Given the description of an element on the screen output the (x, y) to click on. 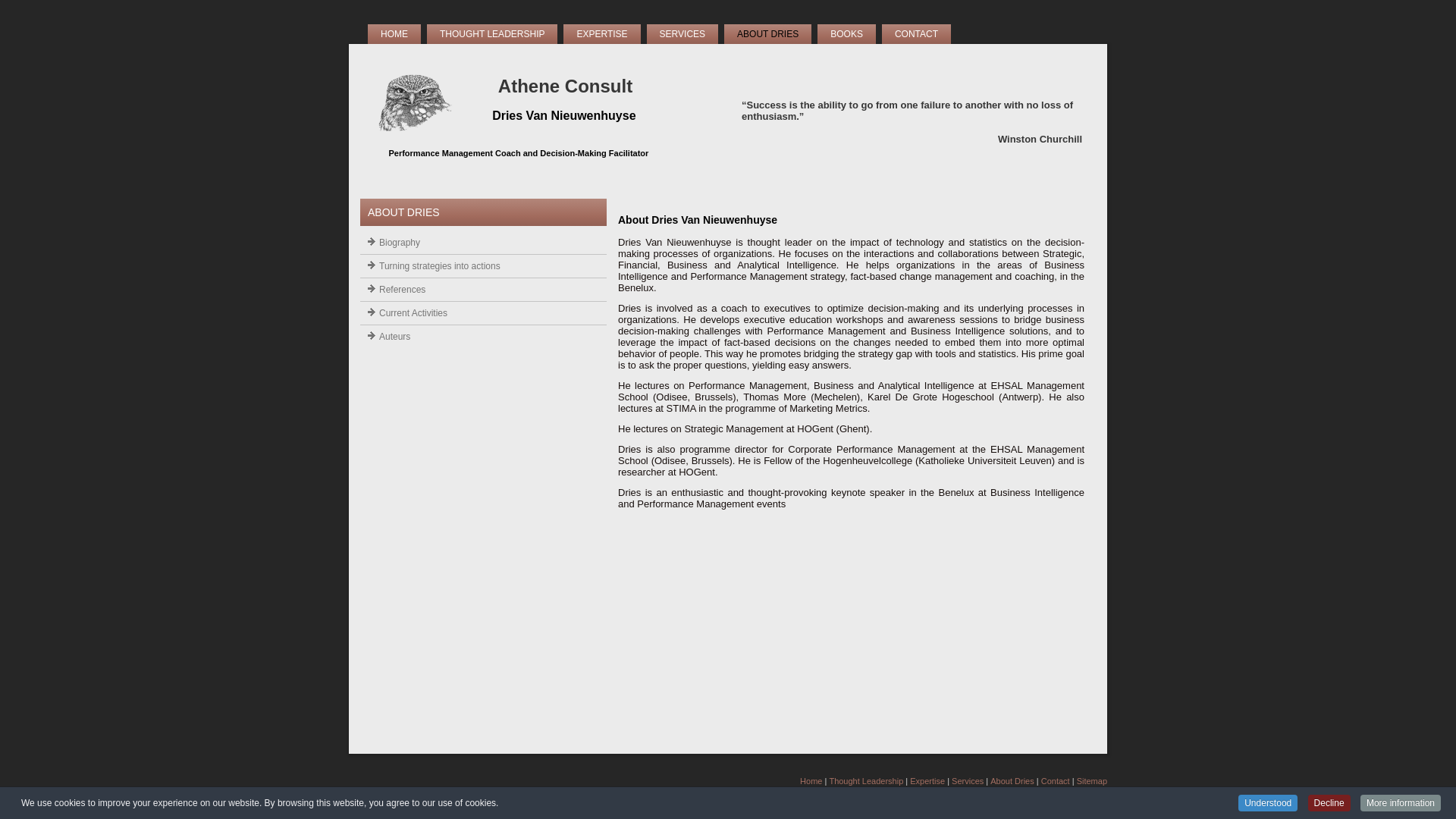
CONTACT Element type: text (915, 33)
Decline Element type: text (1329, 802)
Expertise Element type: text (927, 780)
Auteurs Element type: text (483, 336)
Contact Element type: text (1055, 780)
Thought Leadership Element type: text (865, 780)
Dmd-webdesign Element type: text (1077, 789)
SERVICES Element type: text (682, 33)
THOUGHT LEADERSHIP Element type: text (491, 33)
Understood Element type: text (1267, 802)
ABOUT DRIES Element type: text (767, 33)
HOME Element type: text (393, 33)
References Element type: text (483, 289)
Turning strategies into actions Element type: text (483, 265)
About Dries Element type: text (1011, 780)
EXPERTISE Element type: text (601, 33)
Biography Element type: text (483, 242)
Home Element type: text (811, 780)
Sitemap Element type: text (1091, 780)
Services Element type: text (967, 780)
BOOKS Element type: text (846, 33)
More information Element type: text (1400, 802)
Current Activities Element type: text (483, 312)
Homepage Athene Consult Element type: hover (415, 135)
